Given the description of an element on the screen output the (x, y) to click on. 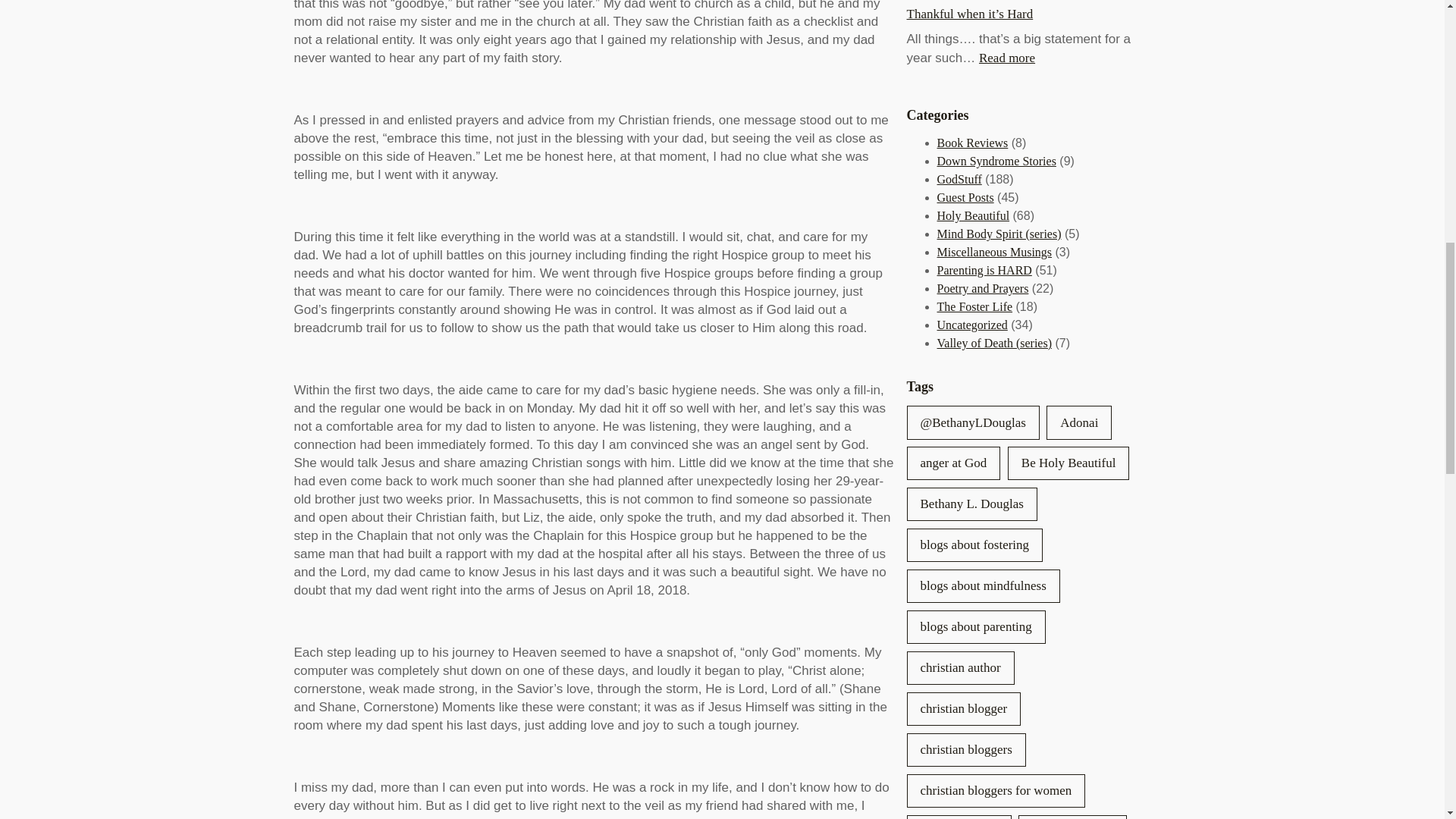
Book Reviews (973, 142)
Guest Posts (965, 196)
Down Syndrome Stories (997, 160)
Holy Beautiful (973, 215)
GodStuff (959, 178)
